Given the description of an element on the screen output the (x, y) to click on. 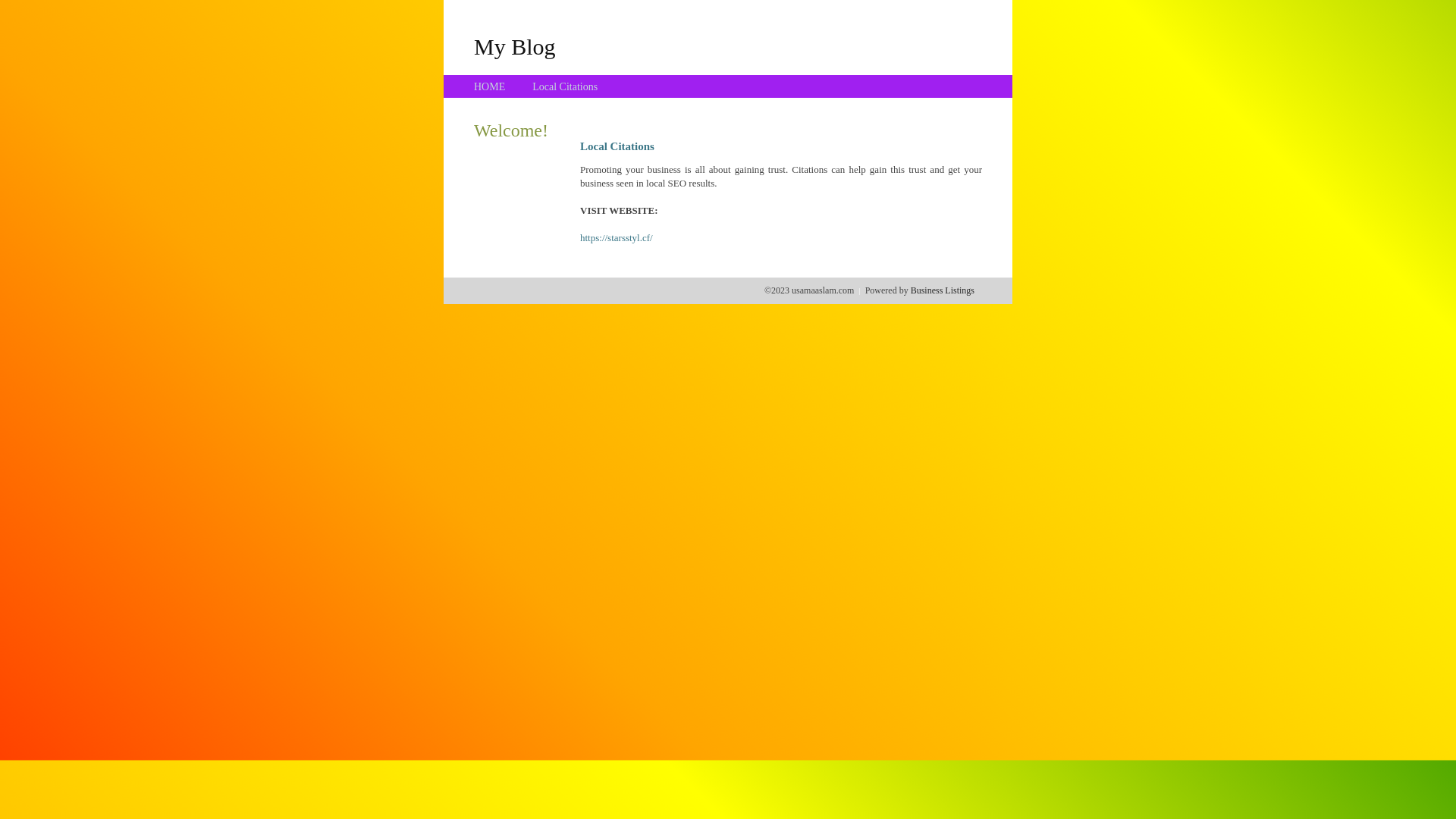
https://starsstyl.cf/ Element type: text (616, 237)
My Blog Element type: text (514, 46)
Business Listings Element type: text (942, 290)
HOME Element type: text (489, 86)
Local Citations Element type: text (564, 86)
